Given the description of an element on the screen output the (x, y) to click on. 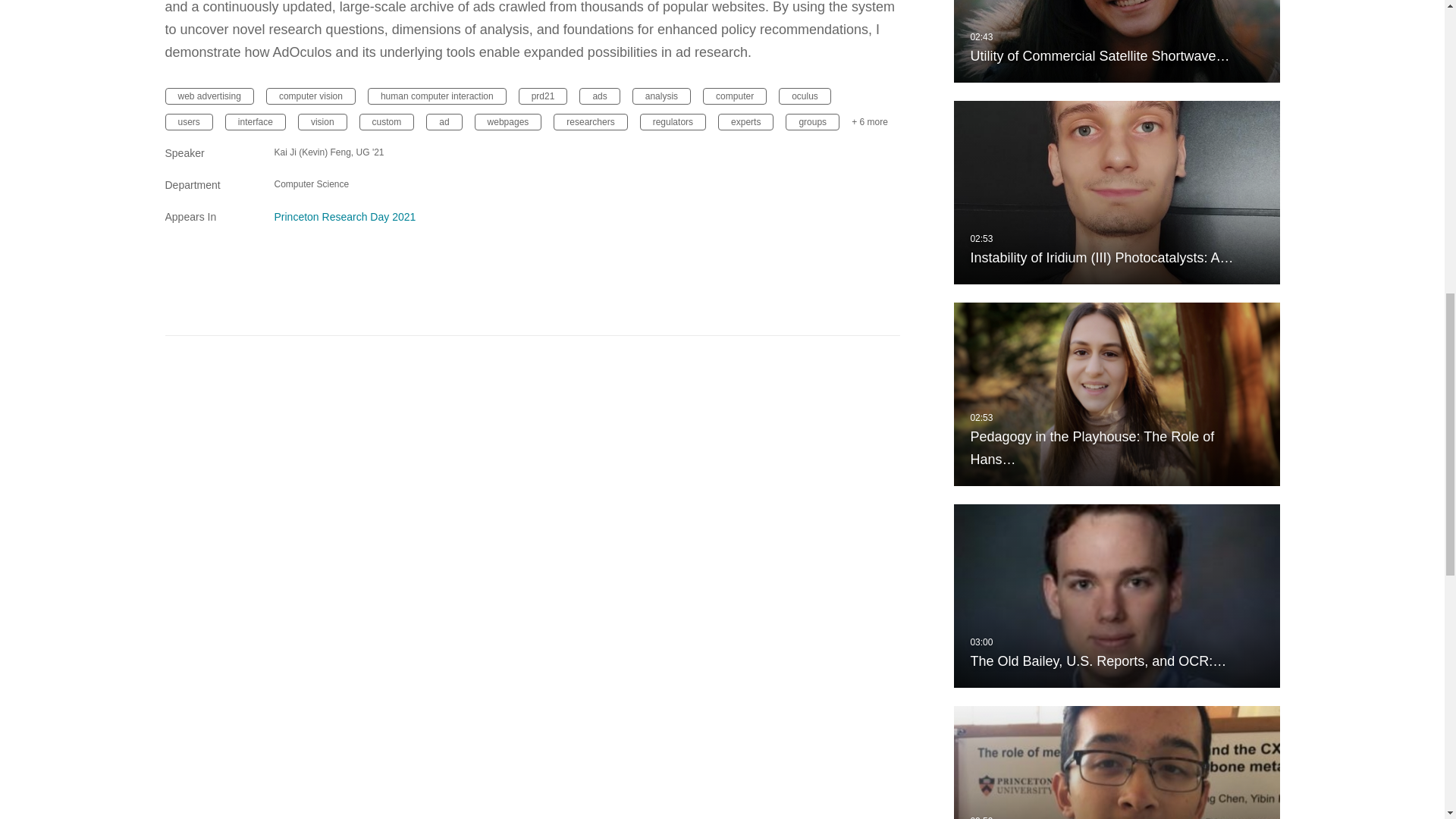
Appears In (210, 216)
Speaker (210, 152)
Department (210, 184)
